Given the description of an element on the screen output the (x, y) to click on. 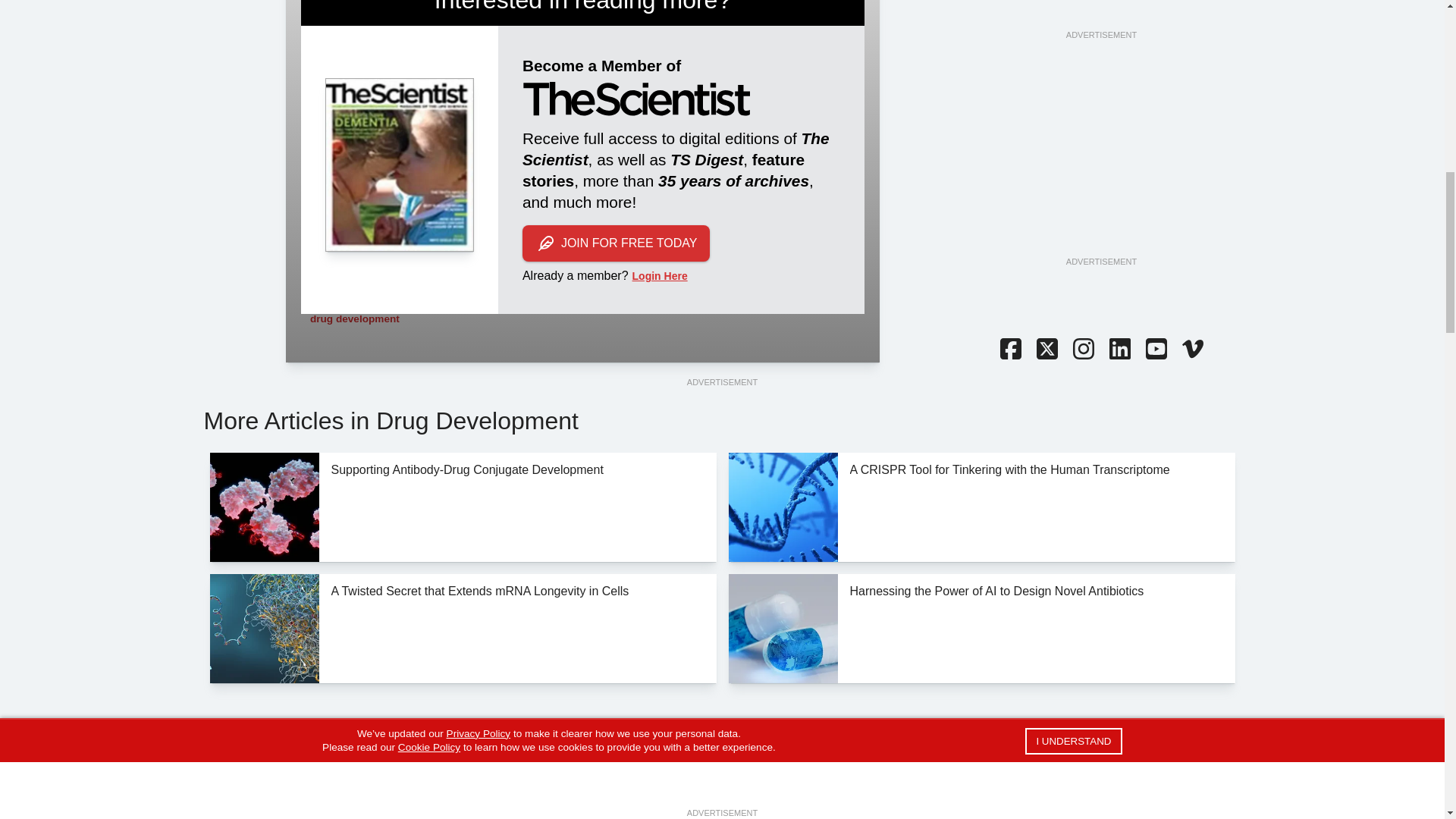
YouTube (1155, 350)
Vimeo (1191, 350)
Facebook (1009, 350)
LinkedIn (1118, 350)
Instagram (1082, 350)
3rd party ad content (1100, 159)
Twitter (1045, 350)
